Given the description of an element on the screen output the (x, y) to click on. 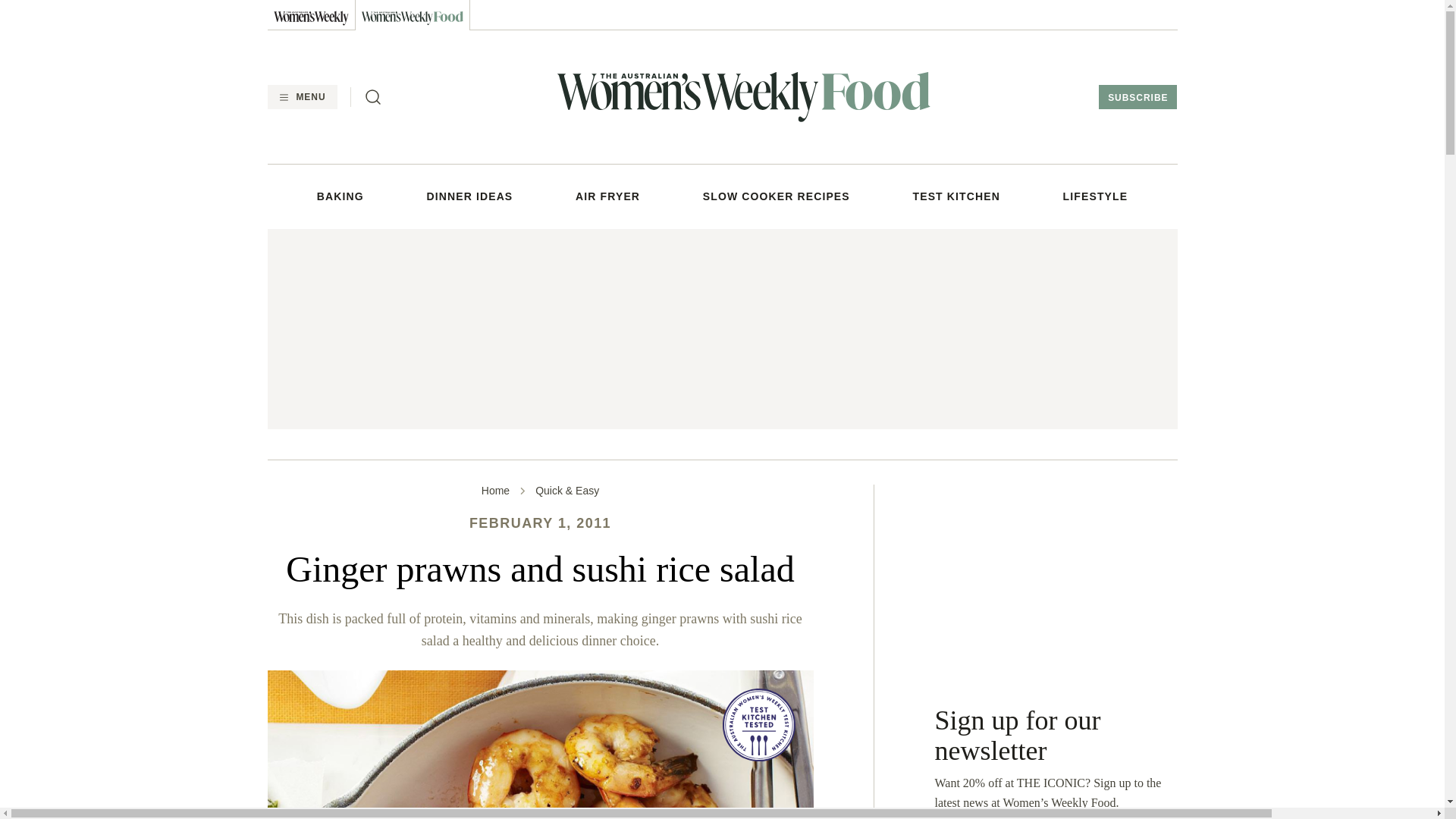
LIFESTYLE (1095, 196)
TEST KITCHEN (956, 196)
SLOW COOKER RECIPES (776, 196)
AIR FRYER (607, 196)
DINNER IDEAS (469, 196)
BAKING (340, 196)
SUBSCRIBE (1137, 96)
MENU (301, 96)
